Given the description of an element on the screen output the (x, y) to click on. 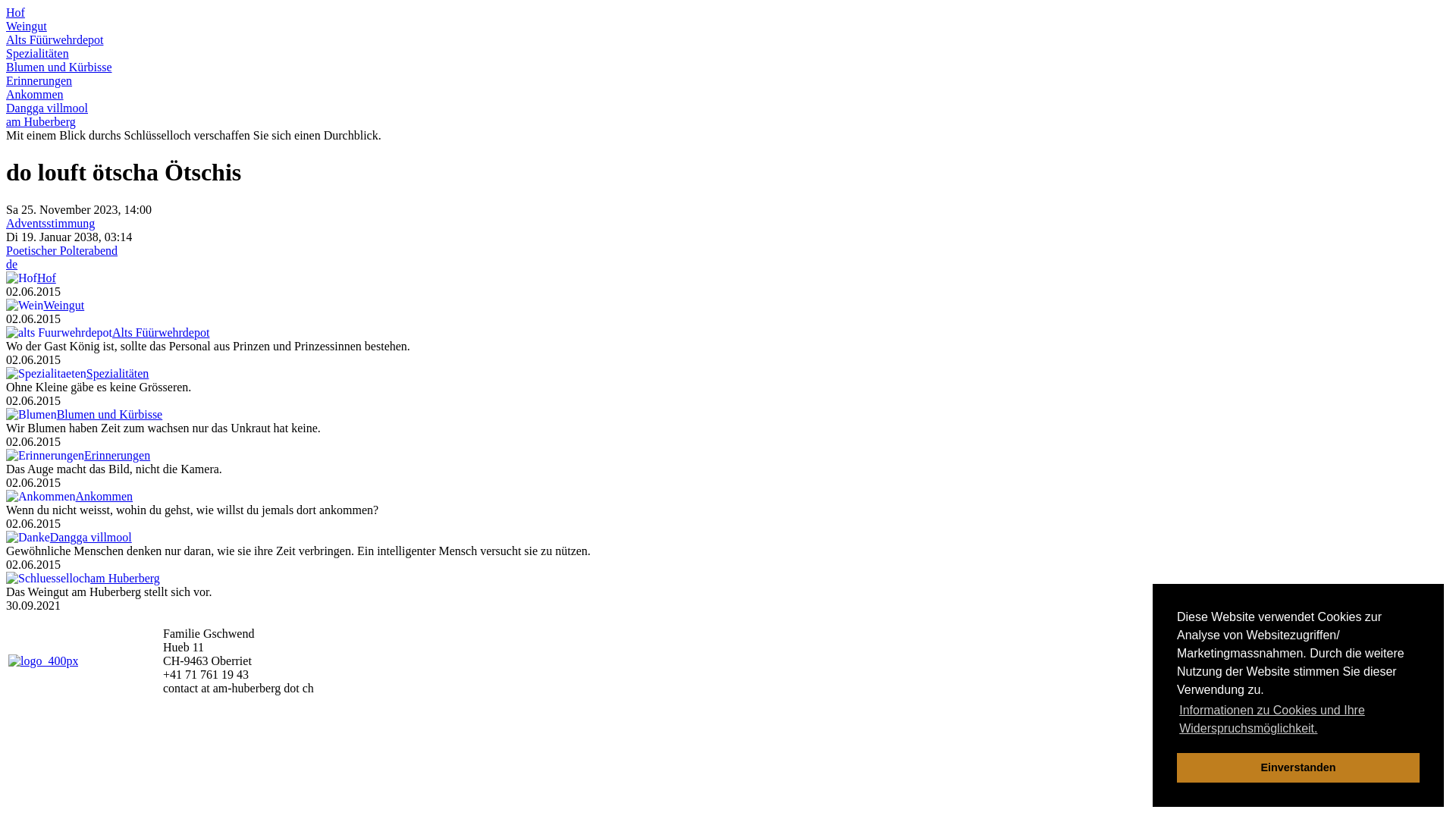
Hof Element type: text (46, 277)
am Huberberg Element type: text (125, 577)
Poetischer Polterabend Element type: text (61, 250)
Weingut Element type: text (26, 25)
Hof Element type: hover (21, 278)
alts Fuurwehrdepot Element type: hover (59, 332)
Einverstanden Element type: text (1297, 767)
Blumen Element type: hover (31, 414)
Danke Element type: hover (28, 537)
Dangga villmool Element type: text (90, 536)
Wein Element type: hover (24, 305)
de Element type: text (11, 263)
Schluesselloch Element type: hover (48, 578)
Ankommen Element type: hover (40, 496)
Spezialitaeten Element type: hover (46, 373)
Weingut Element type: text (63, 304)
Erinnerungen Element type: text (117, 454)
Adventsstimmung Element type: text (50, 222)
Impressum Element type: text (1322, 653)
Ankommen Element type: text (34, 93)
Hof Element type: text (15, 12)
Dangga villmool Element type: text (46, 107)
am Huberberg Element type: text (40, 121)
Erinnerungen Element type: text (39, 80)
Erinnerungen Element type: hover (45, 455)
Ankommen Element type: text (104, 495)
